Given the description of an element on the screen output the (x, y) to click on. 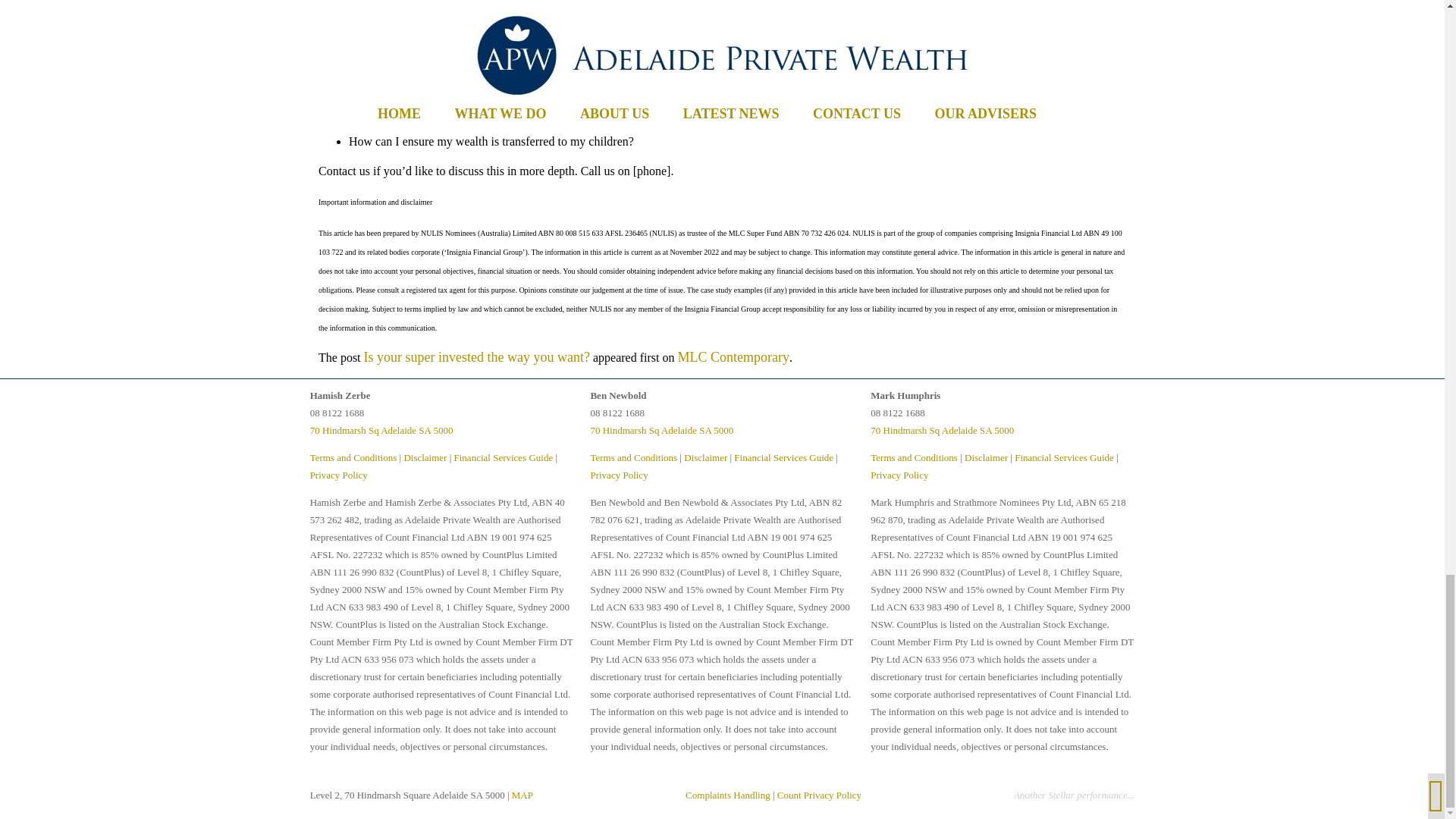
Financial Services Guide (782, 457)
Privacy Policy (899, 474)
Count Privacy Policy (819, 794)
Financial Services Guide (1063, 457)
Another Stellar performance... (1073, 795)
Disclaimer (985, 457)
Terms and Conditions (914, 457)
MLC Contemporary (733, 356)
Terms and Conditions (353, 457)
Disclaimer (705, 457)
Is your super invested the way you want? (476, 356)
70 Hindmarsh Sq Adelaide SA 5000 (661, 430)
MAP (522, 794)
Disclaimer (424, 457)
Privacy Policy (339, 474)
